Given the description of an element on the screen output the (x, y) to click on. 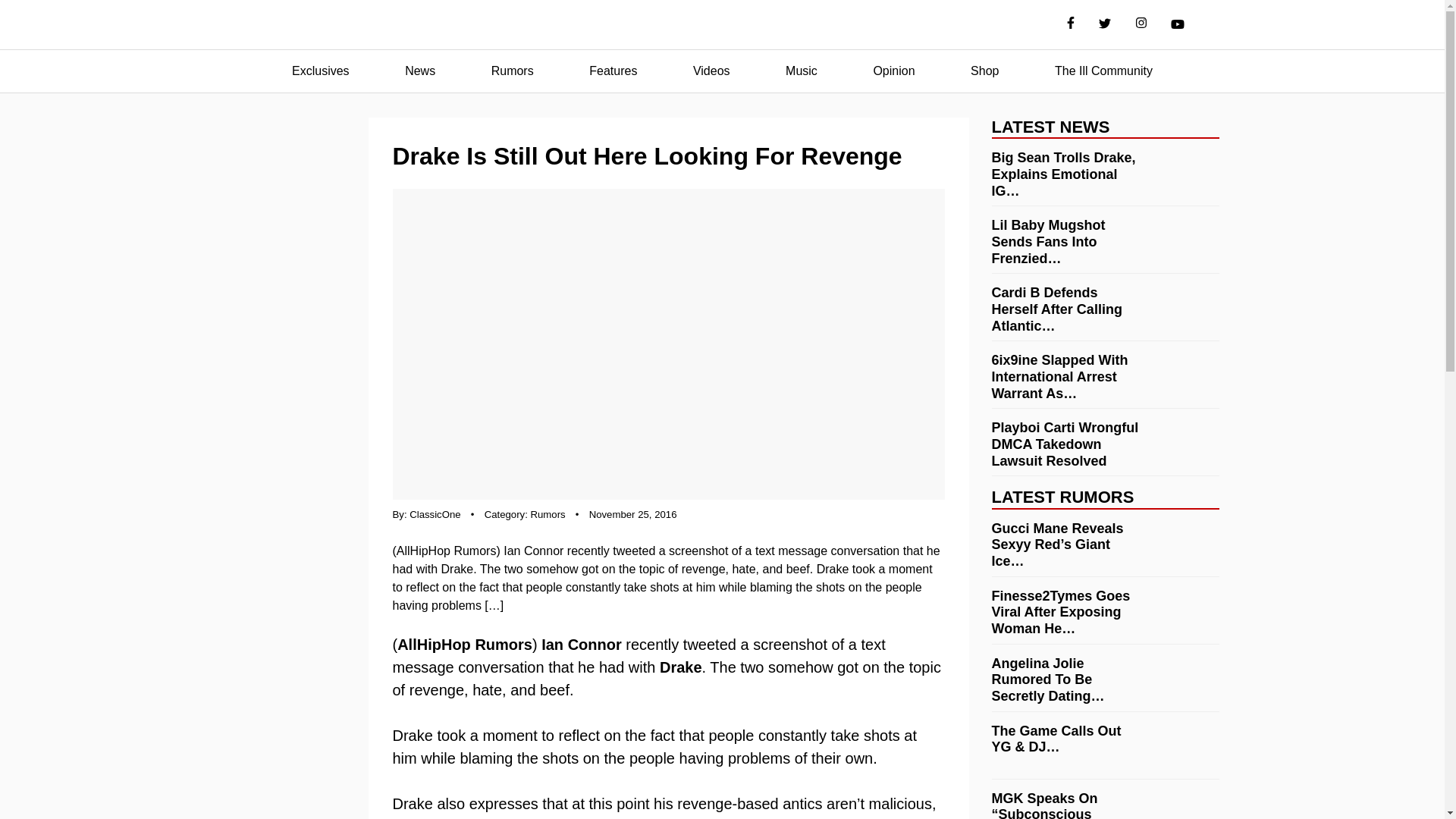
Exclusives (320, 70)
The Ill Community (1103, 70)
Rumors (512, 70)
ClassicOne (434, 514)
Music (801, 70)
November 25, 2016 (633, 514)
AllHipHop (722, 25)
Shop (984, 70)
Features (612, 70)
News (419, 70)
